Given the description of an element on the screen output the (x, y) to click on. 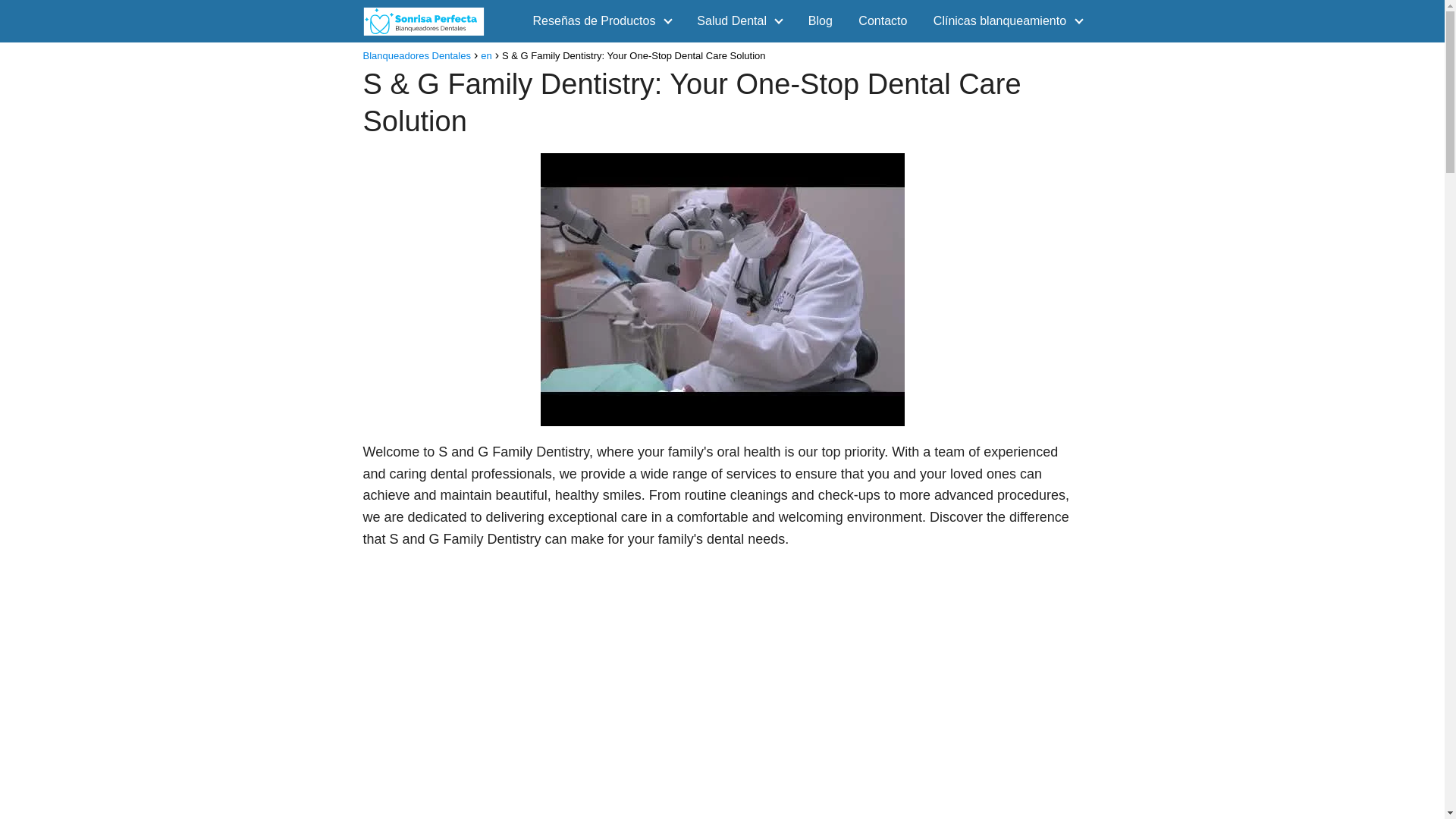
Contacto (883, 20)
Salud Dental (735, 20)
Blog (820, 20)
